Given the description of an element on the screen output the (x, y) to click on. 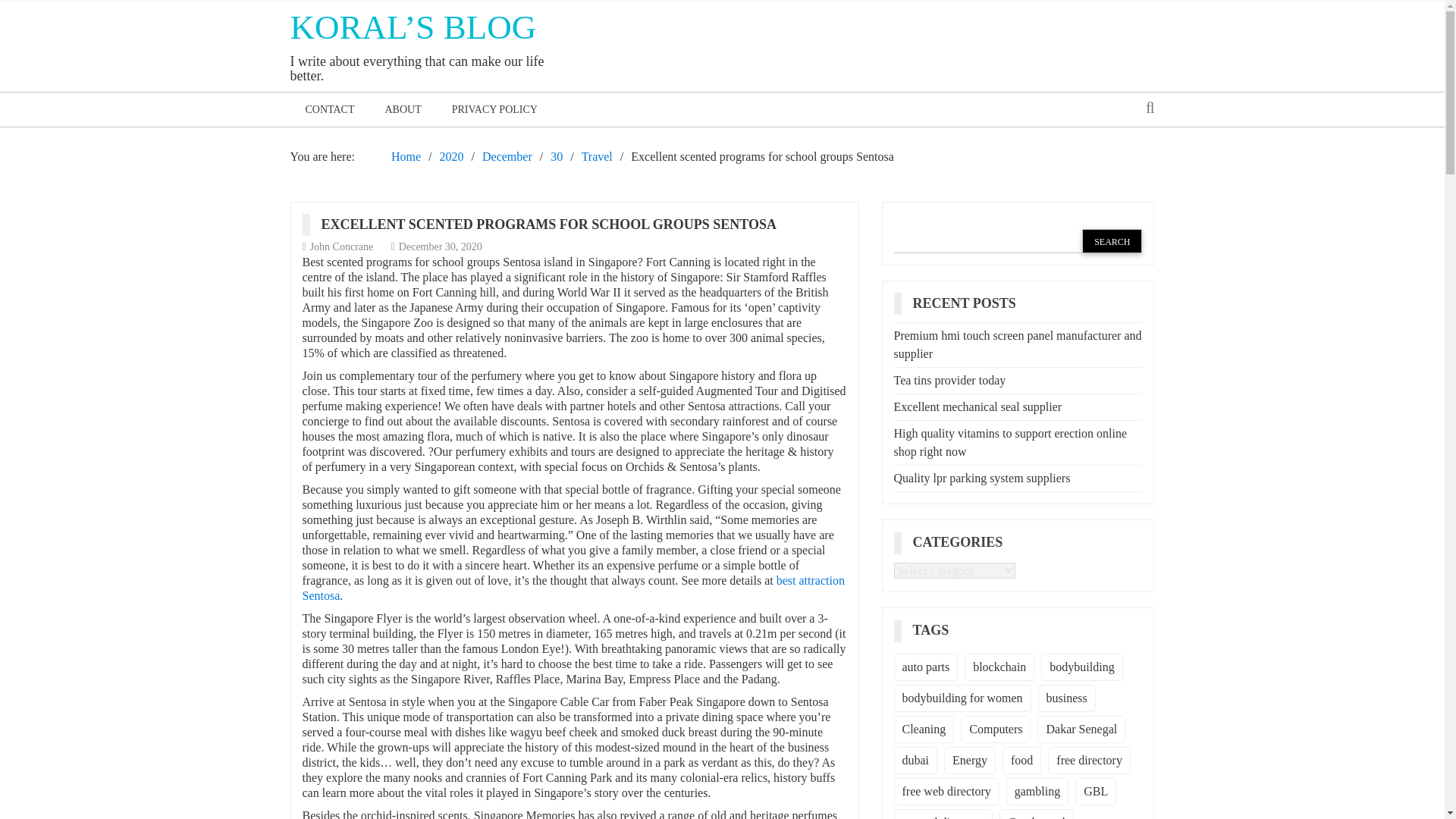
blockchain (998, 666)
CONTACT (329, 109)
2020 (451, 155)
PRIVACY POLICY (494, 109)
Home (405, 155)
TAGS (936, 630)
Quality lpr parking system suppliers (981, 477)
food (1022, 759)
Excellent mechanical seal supplier (977, 406)
CATEGORIES (963, 541)
